Given the description of an element on the screen output the (x, y) to click on. 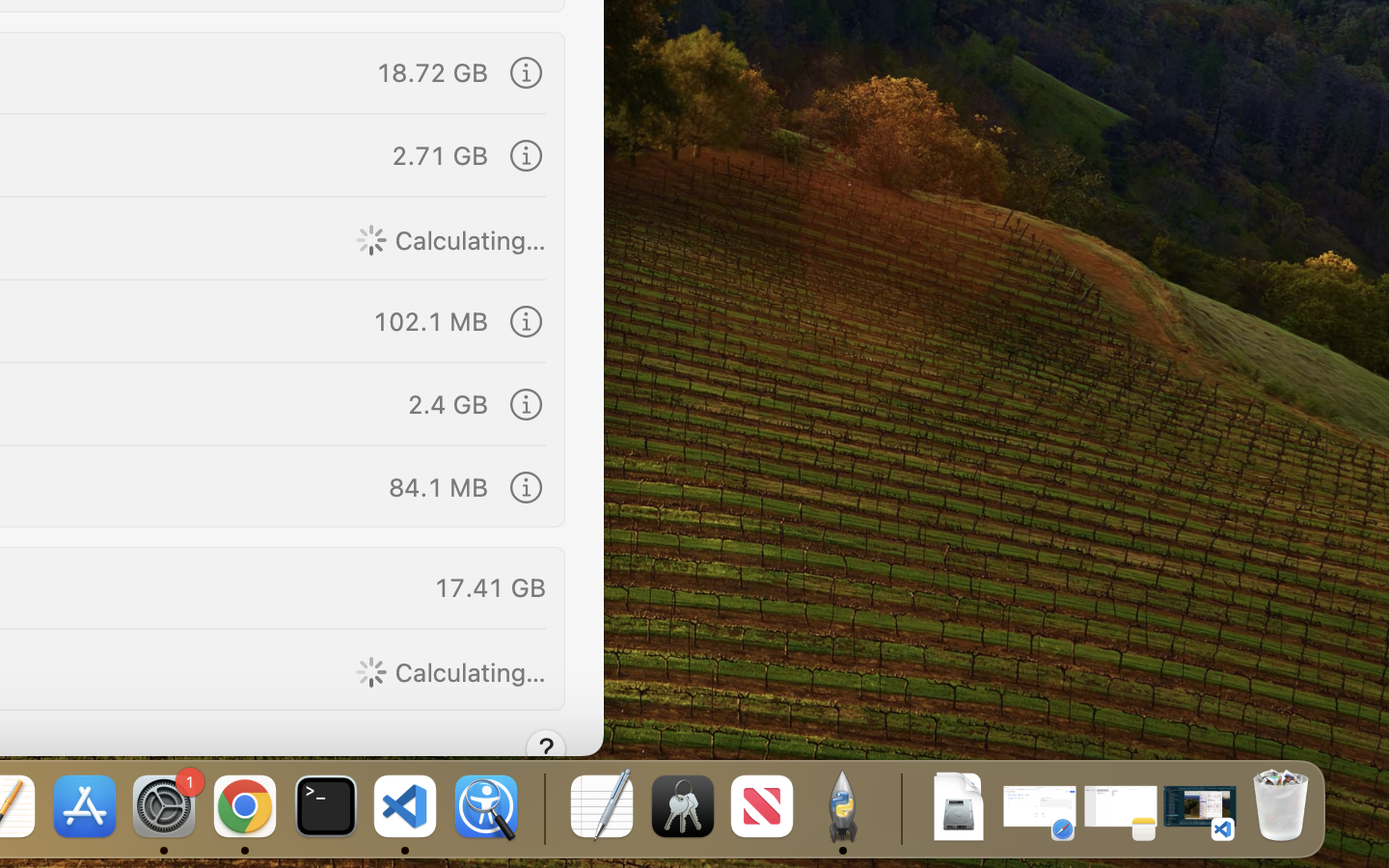
2.71 GB Element type: AXStaticText (439, 153)
84.1 MB Element type: AXStaticText (436, 485)
102.1 MB Element type: AXStaticText (429, 319)
17.41 GB Element type: AXStaticText (489, 585)
0.4285714328289032 Element type: AXDockItem (541, 807)
